Given the description of an element on the screen output the (x, y) to click on. 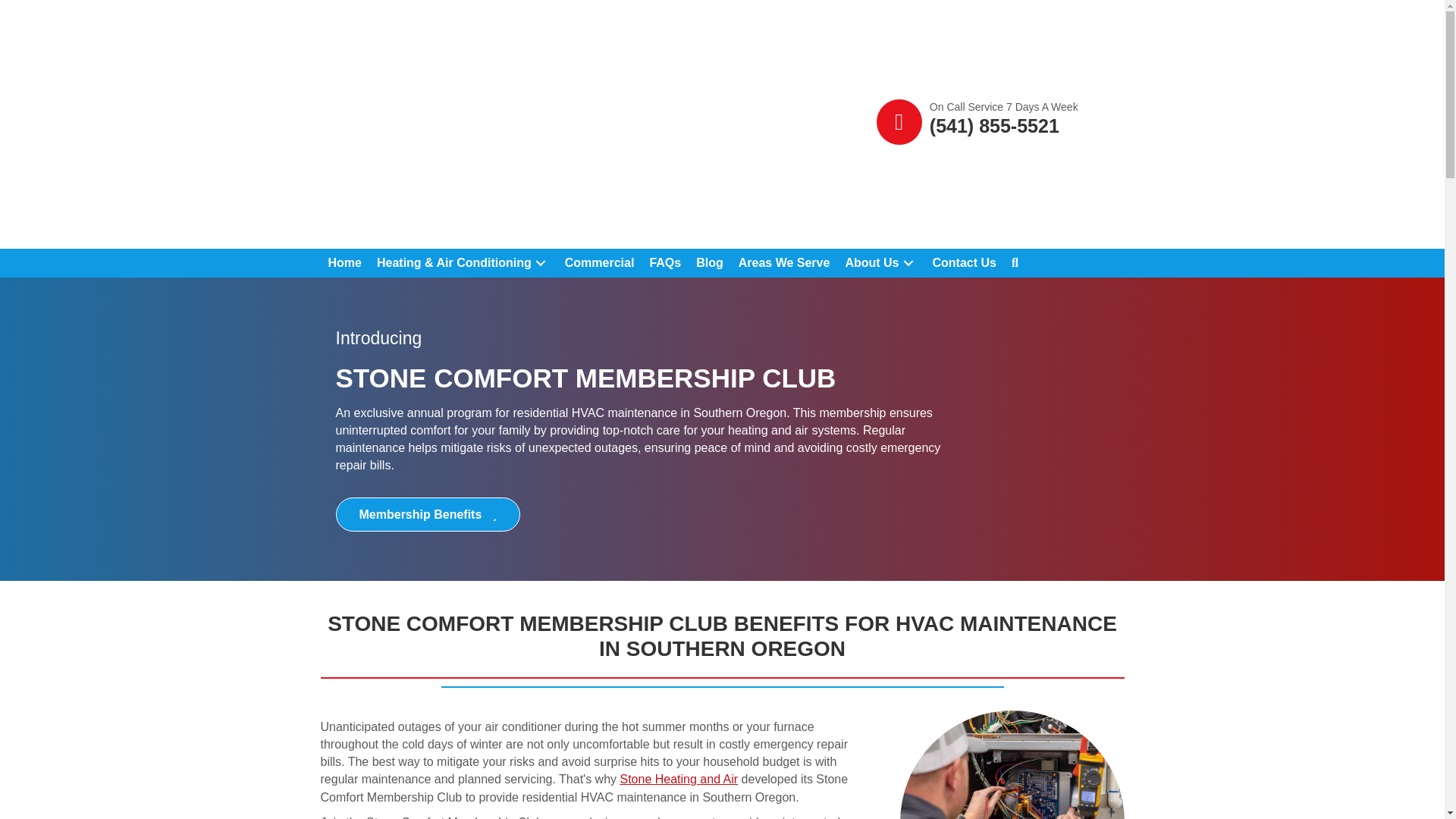
Blog (709, 262)
Contact Us (964, 262)
Home (344, 262)
FAQs (665, 262)
HVAC Maintenance in Southern Oregon (1011, 764)
Commercial (599, 262)
About Us (880, 262)
Areas We Serve (784, 262)
